Given the description of an element on the screen output the (x, y) to click on. 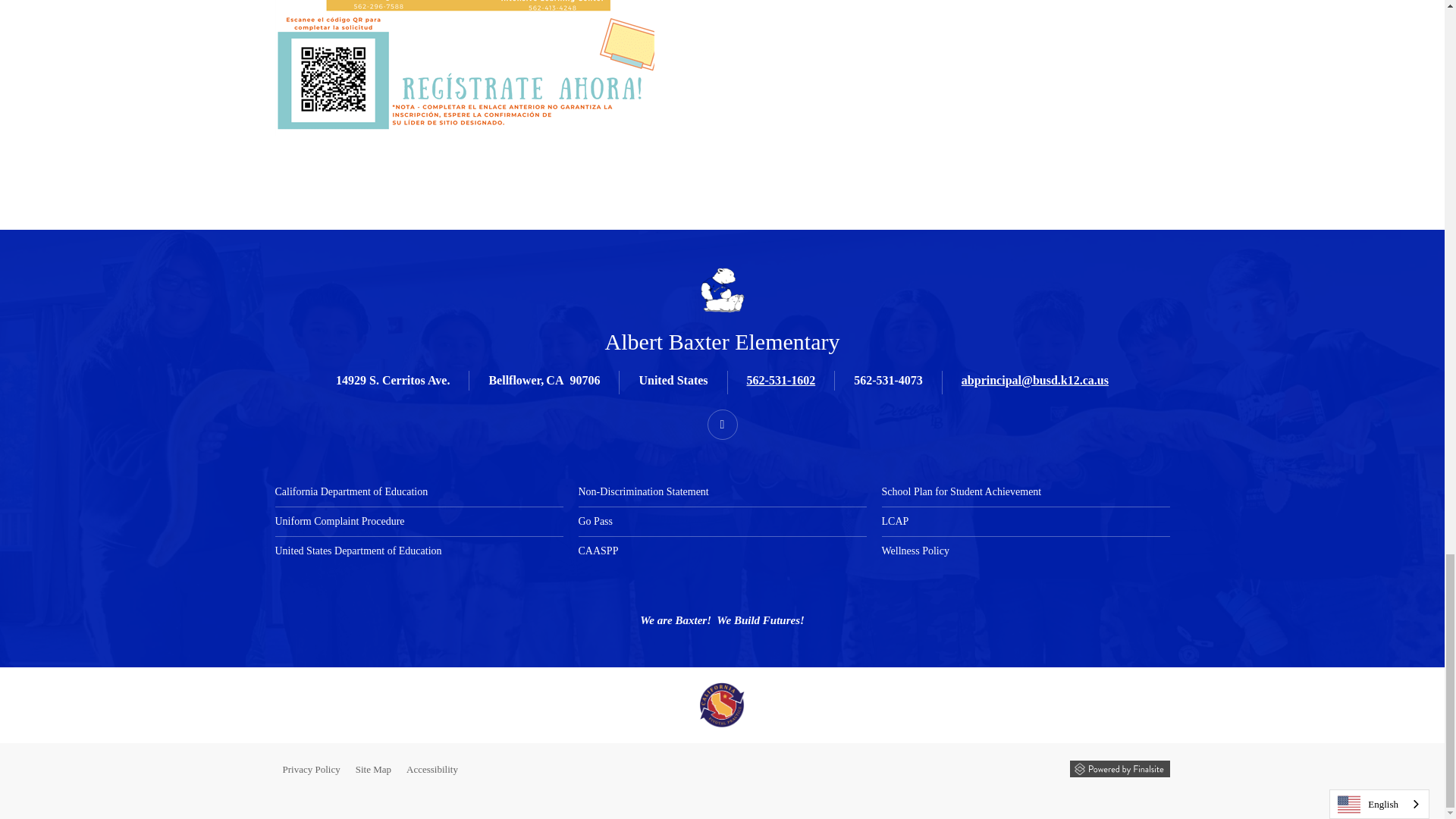
Powered by Finalsite opens in a new window (1118, 768)
Email (1034, 379)
